Given the description of an element on the screen output the (x, y) to click on. 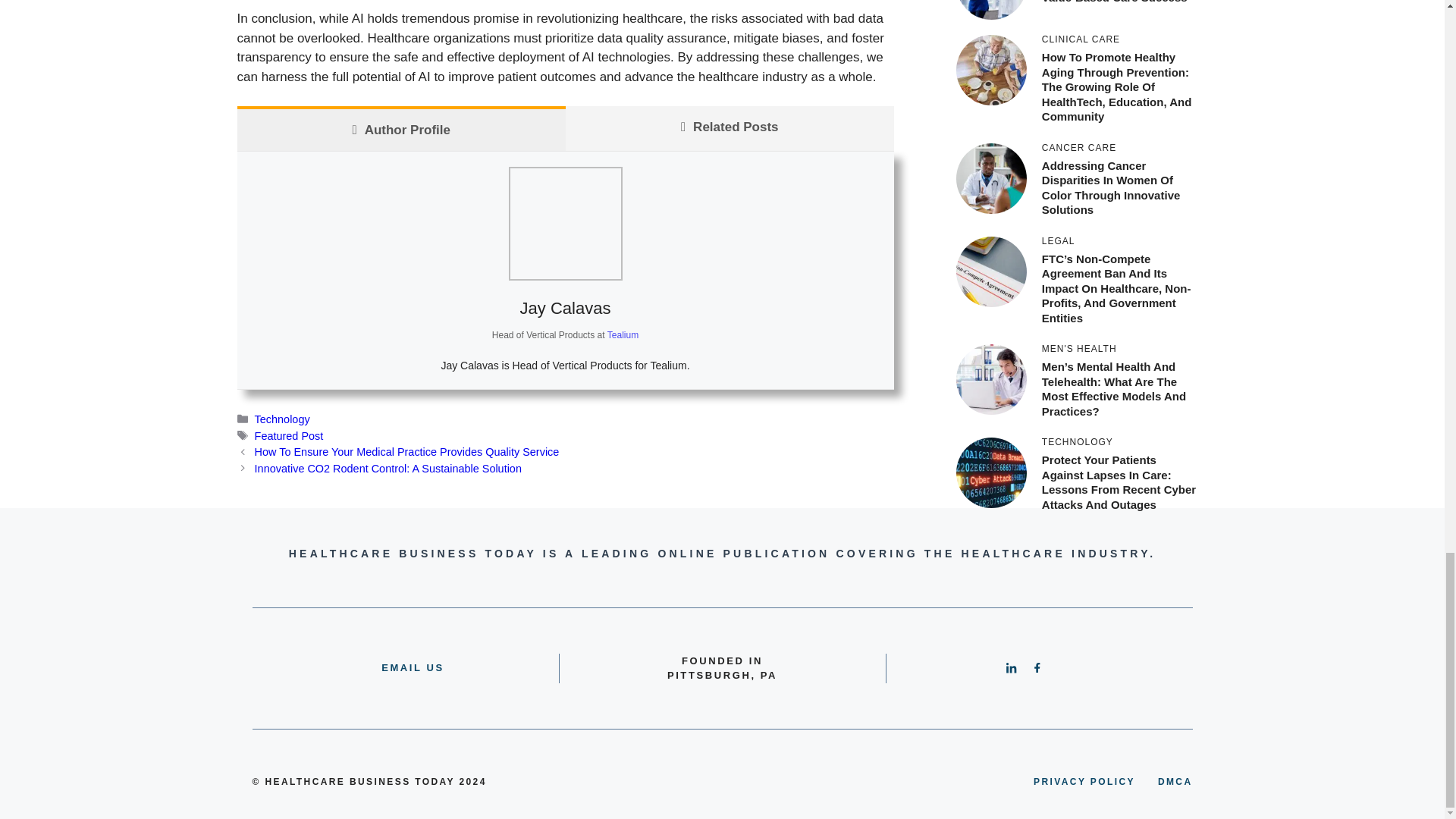
Jay Calavas 1 (564, 223)
How To Ensure Your Medical Practice Provides Quality Service (406, 451)
Innovative CO2 Rodent Control: A Sustainable Solution (387, 468)
Featured Post (288, 435)
Technology (282, 419)
Tealium (623, 335)
